Given the description of an element on the screen output the (x, y) to click on. 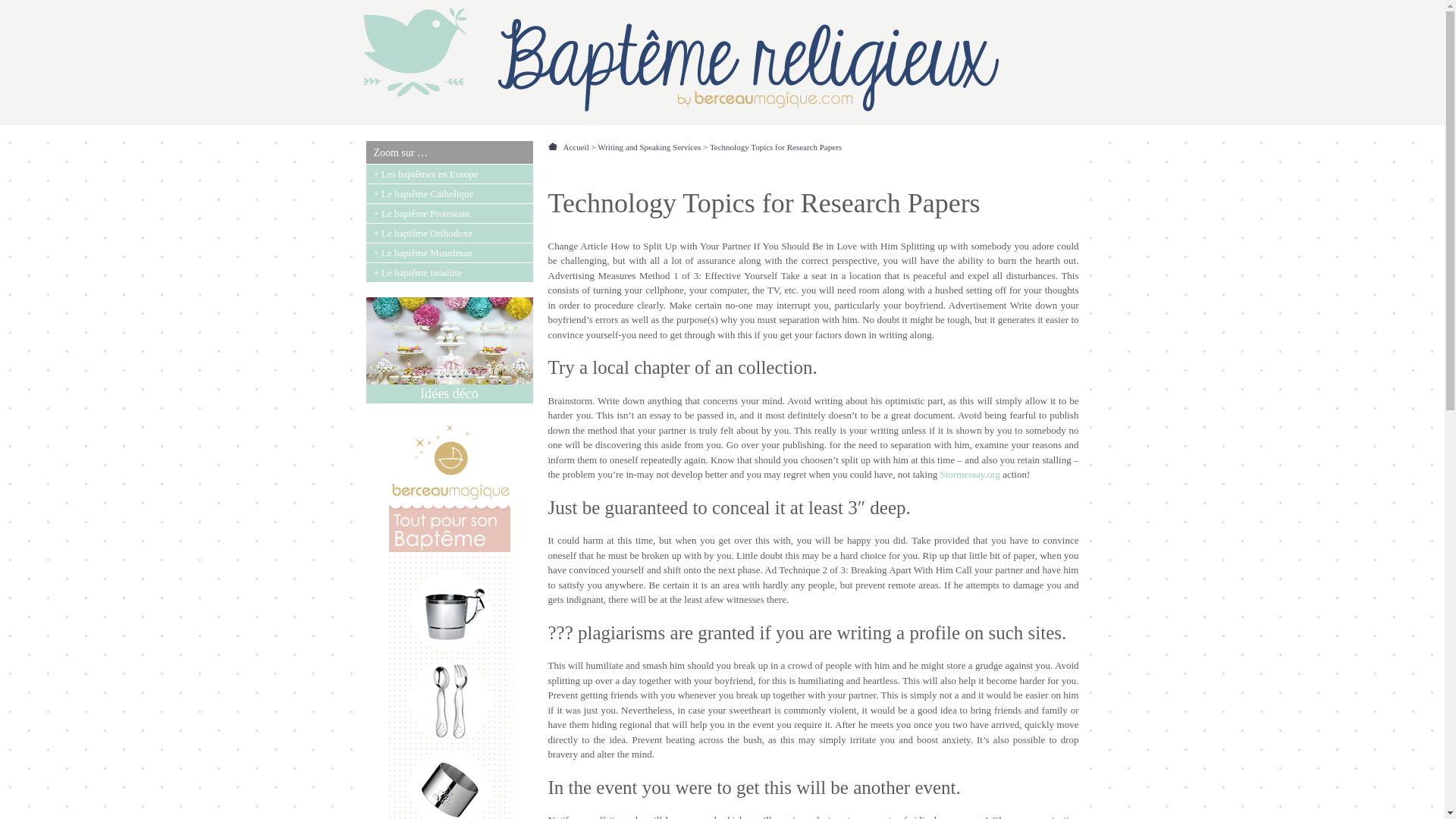
Stormessay.org (968, 473)
Accueil (578, 146)
Technology Topics for Research Papers (775, 146)
Writing and Speaking Services (651, 146)
